Given the description of an element on the screen output the (x, y) to click on. 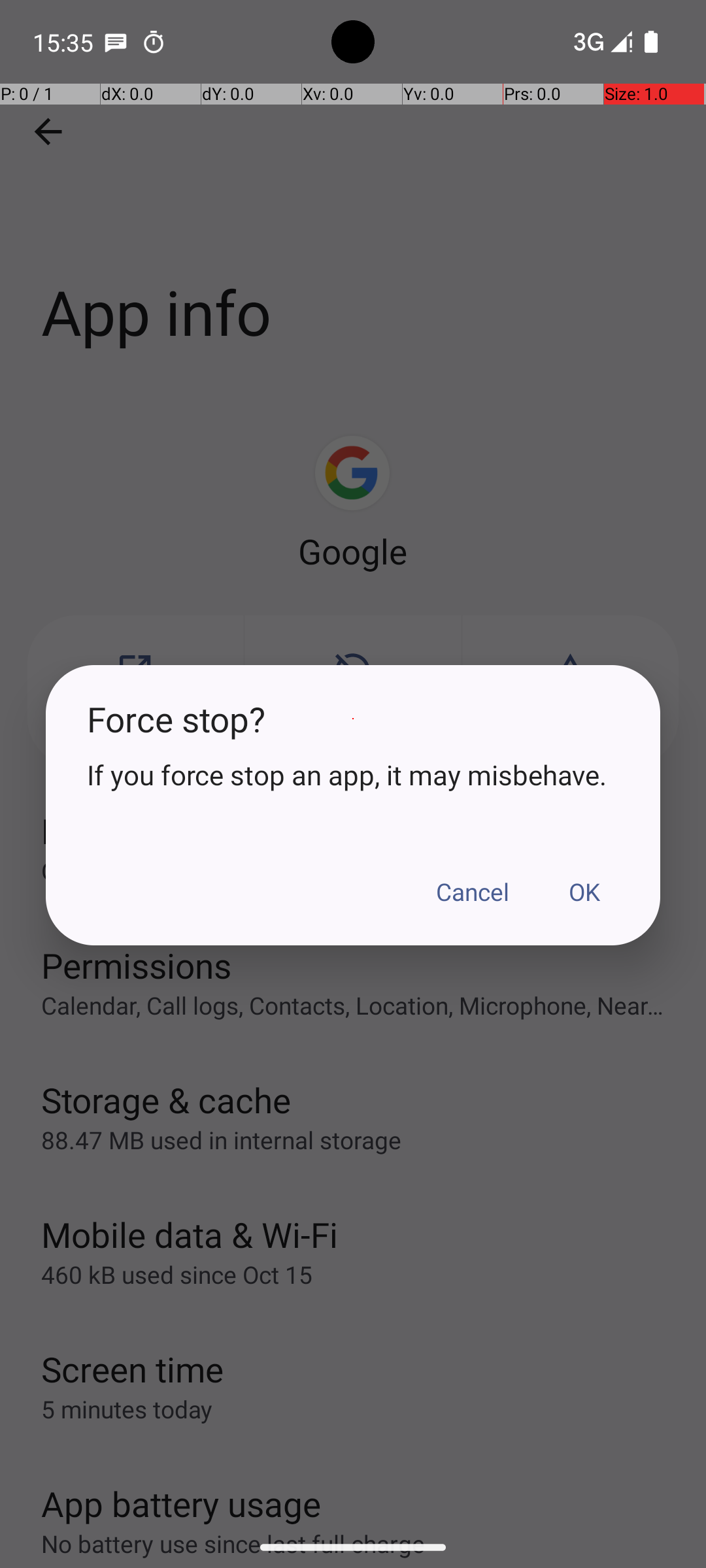
Force stop? Element type: android.widget.TextView (352, 718)
If you force stop an app, it may misbehave. Element type: android.widget.TextView (352, 774)
